Given the description of an element on the screen output the (x, y) to click on. 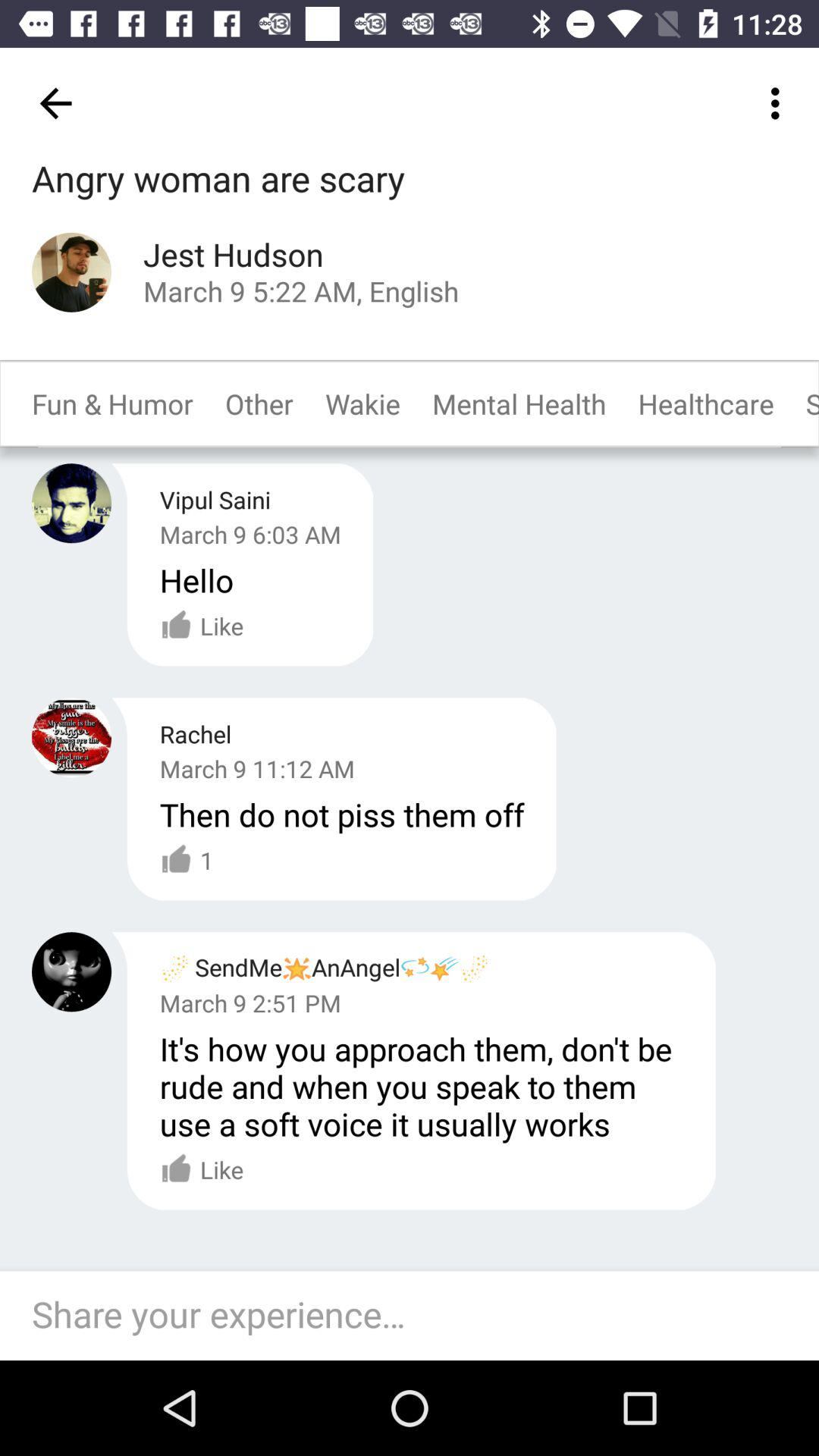
enter your experience (417, 1315)
